Given the description of an element on the screen output the (x, y) to click on. 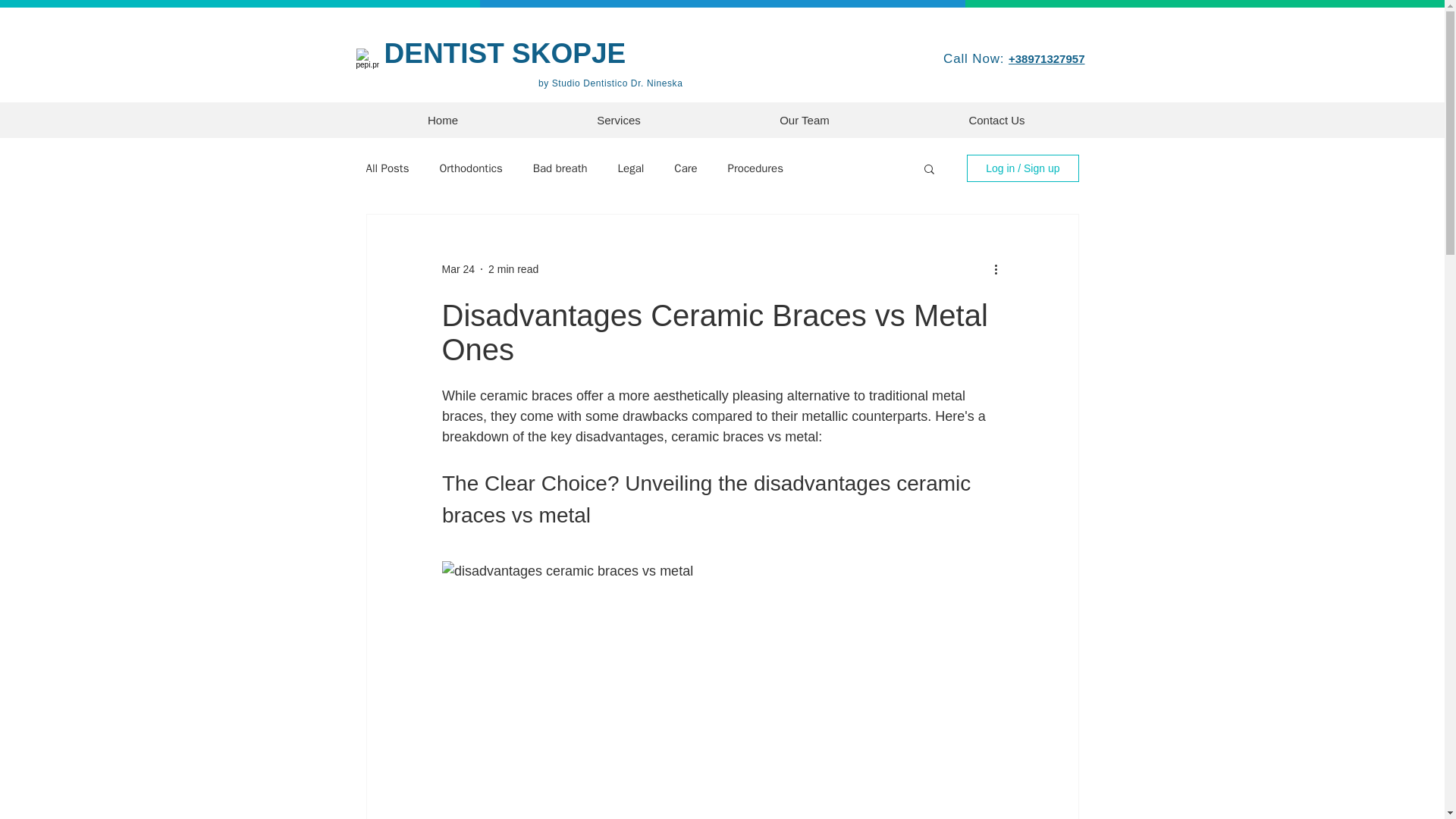
DENTIST SKOPJE (505, 52)
by Studio Dentistico Dr. Nineska (610, 82)
Procedures (755, 167)
Orthodontics (470, 167)
Our Team (804, 119)
Mar 24 (457, 268)
Contact Us (996, 119)
Home (443, 119)
Legal (631, 167)
Bad breath (560, 167)
Care (685, 167)
2 min read (512, 268)
Call Now:  (976, 58)
All Posts (387, 167)
Services (618, 119)
